Given the description of an element on the screen output the (x, y) to click on. 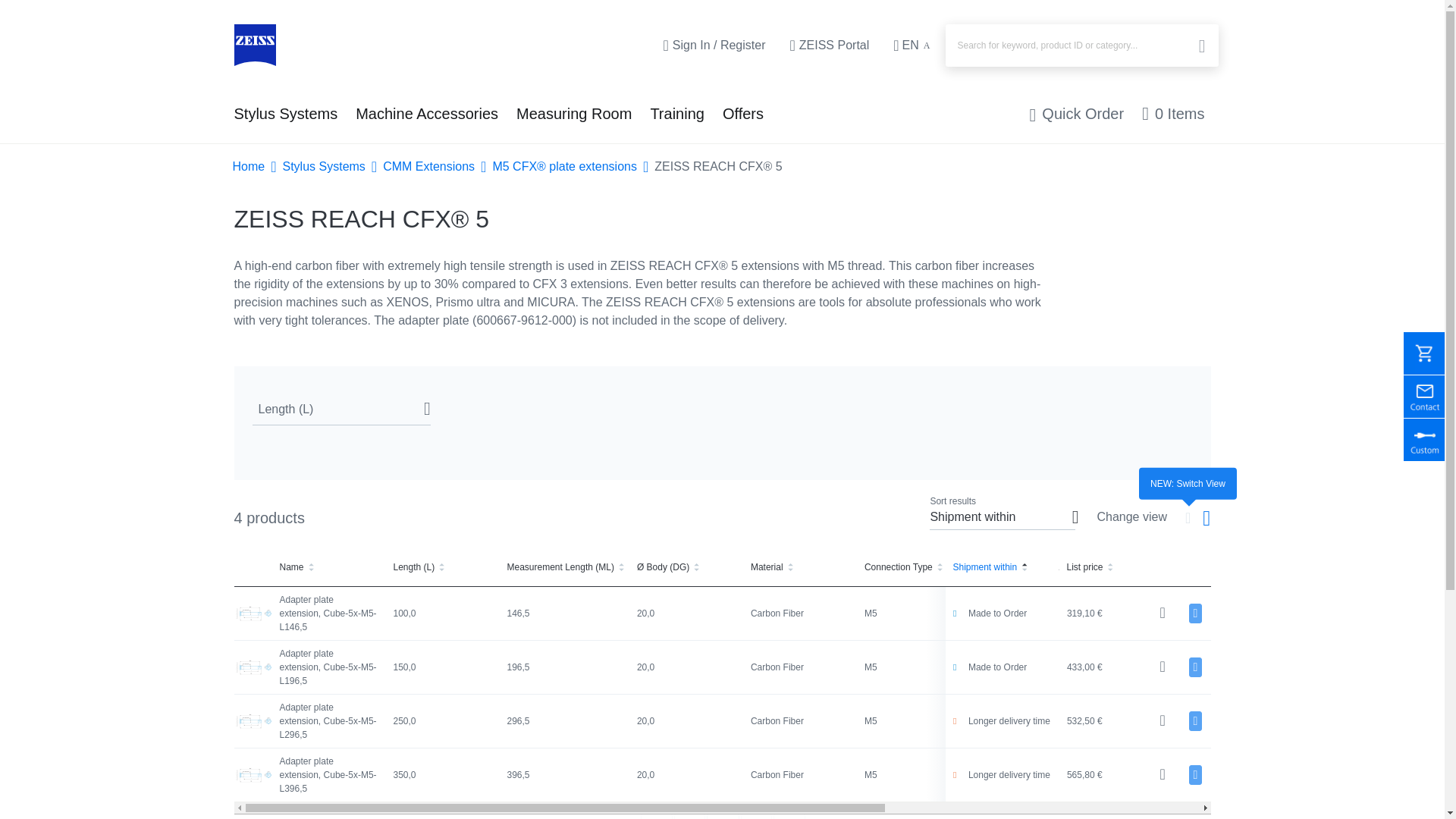
Start search. (1199, 46)
Stylus Systems (284, 113)
ZEISS Portal (829, 45)
Home (253, 45)
EN (913, 45)
Quick Order (1076, 113)
  ZEISS Portal (829, 45)
